Given the description of an element on the screen output the (x, y) to click on. 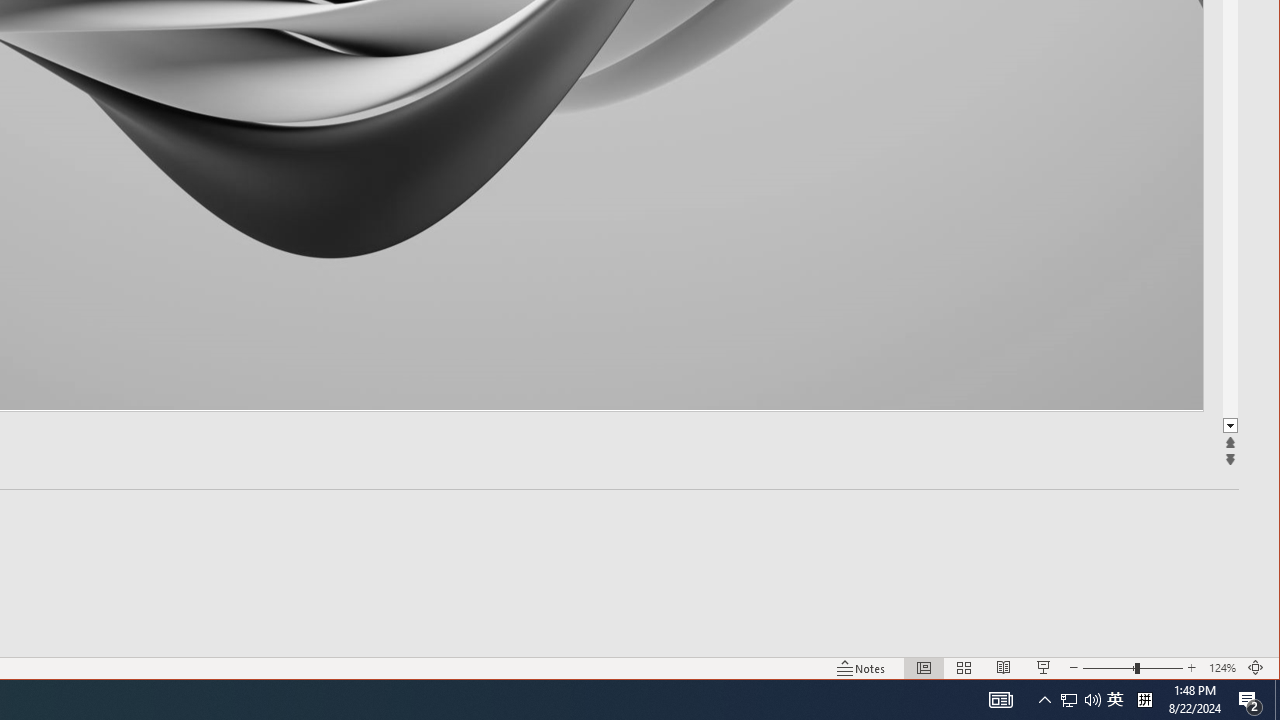
Zoom 124% (1222, 668)
